Given the description of an element on the screen output the (x, y) to click on. 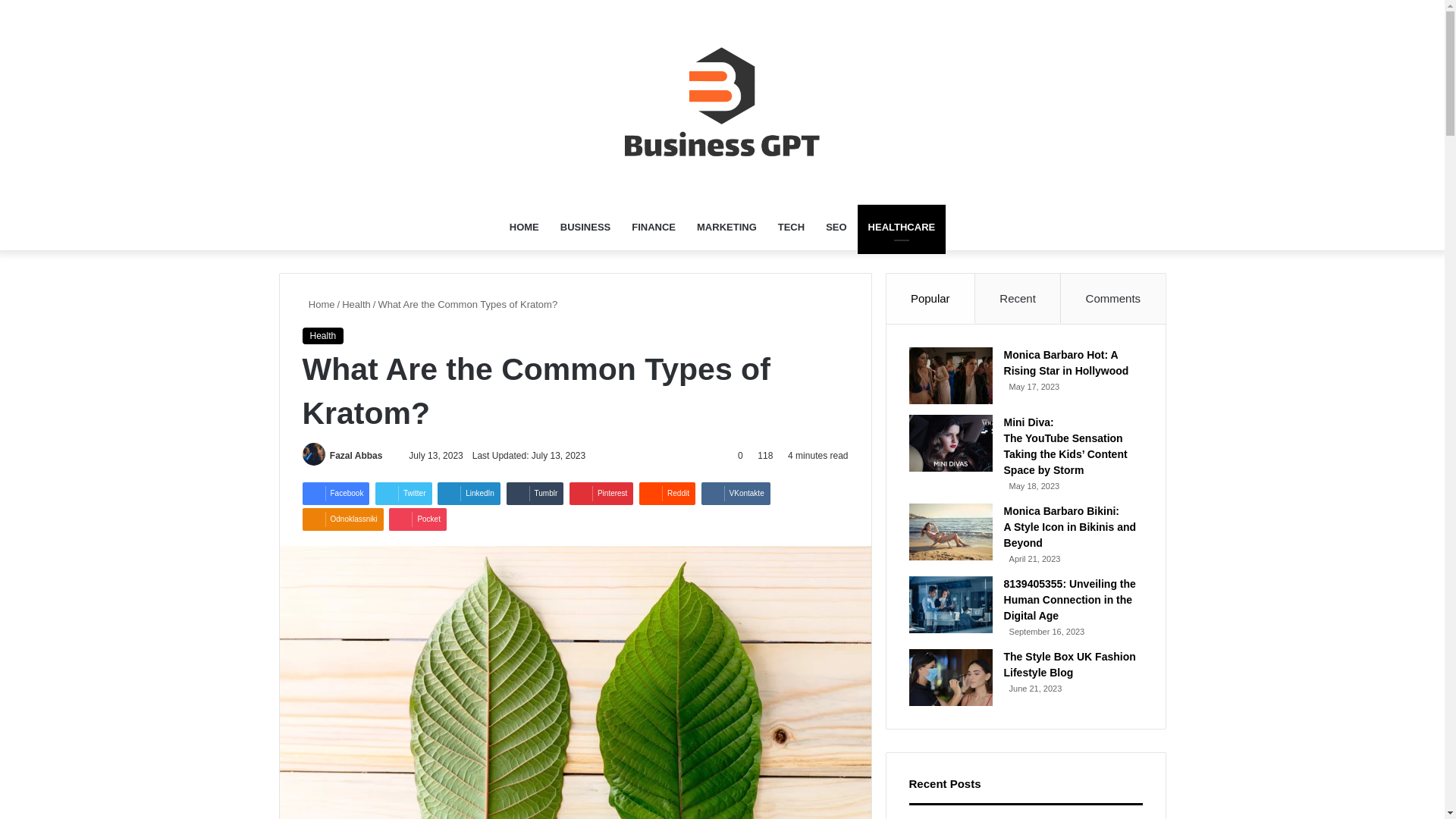
HEALTHCARE (901, 227)
MARKETING (726, 227)
Pocket (417, 518)
Odnoklassniki (341, 518)
Tumblr (535, 493)
Reddit (667, 493)
VKontakte (735, 493)
Pinterest (601, 493)
Home (317, 304)
FINANCE (653, 227)
Facebook (335, 493)
Reddit (667, 493)
Tumblr (535, 493)
Pocket (417, 518)
Business GPT (722, 102)
